Given the description of an element on the screen output the (x, y) to click on. 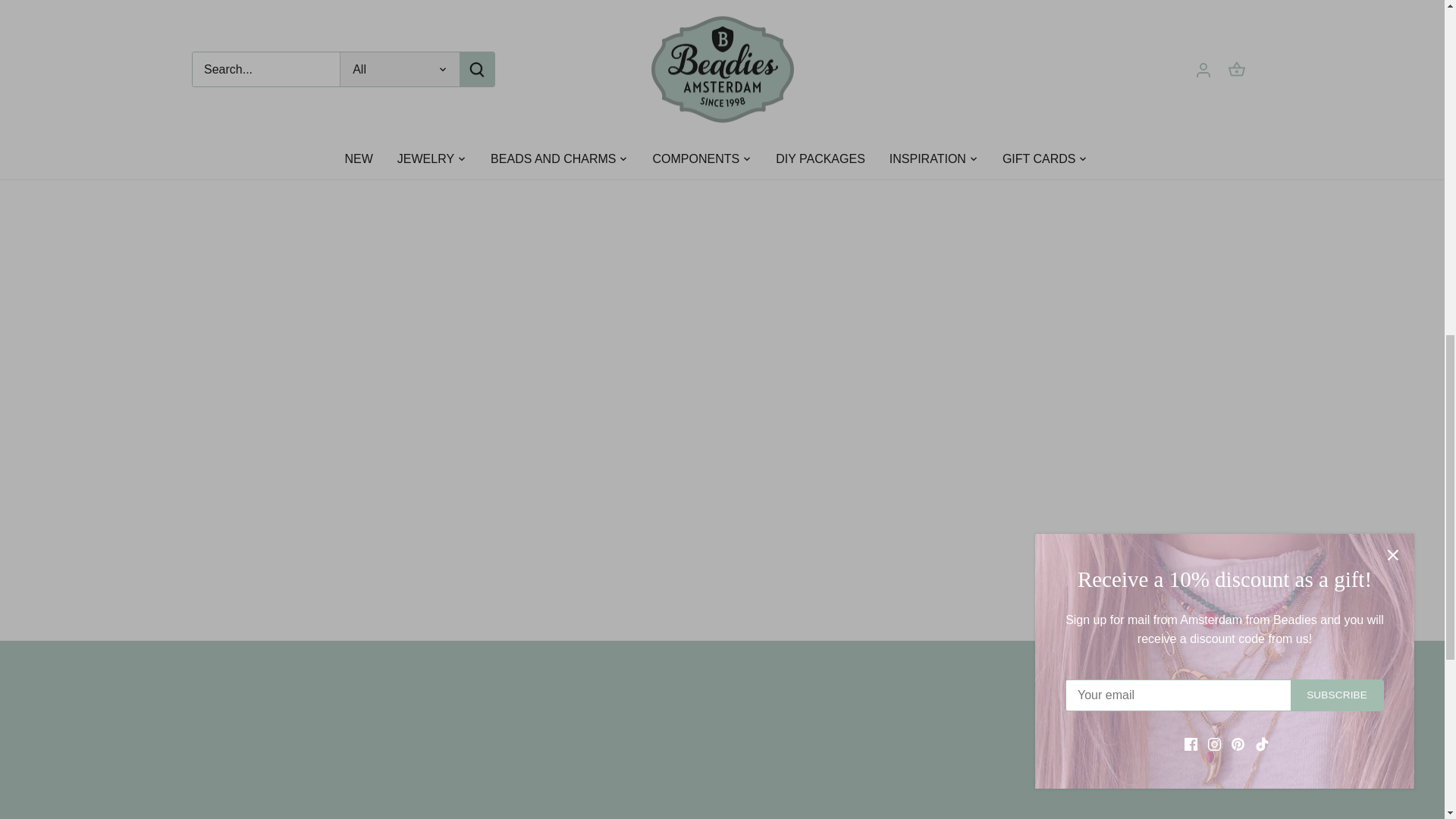
Facebook (787, 78)
charms (1170, 21)
Twitter (807, 78)
